Given the description of an element on the screen output the (x, y) to click on. 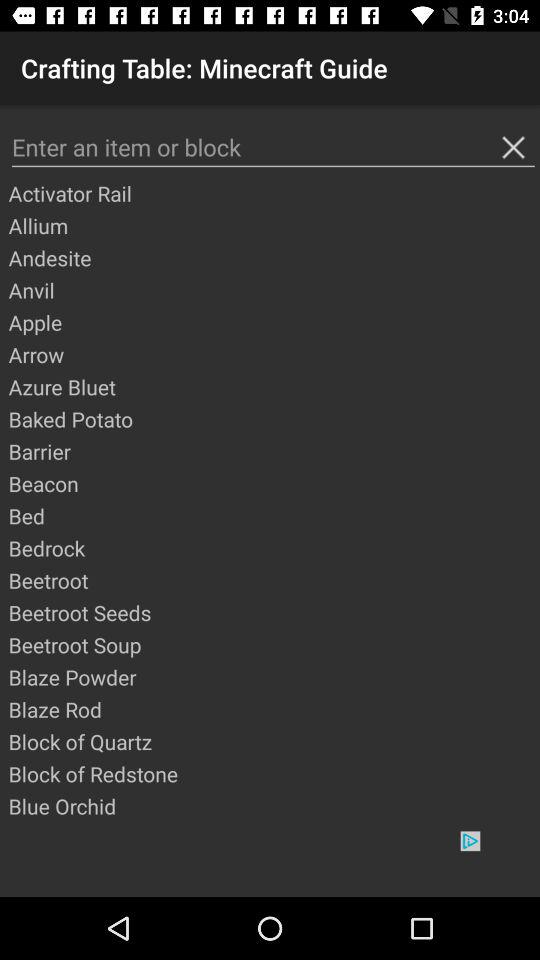
clear text (513, 147)
